Given the description of an element on the screen output the (x, y) to click on. 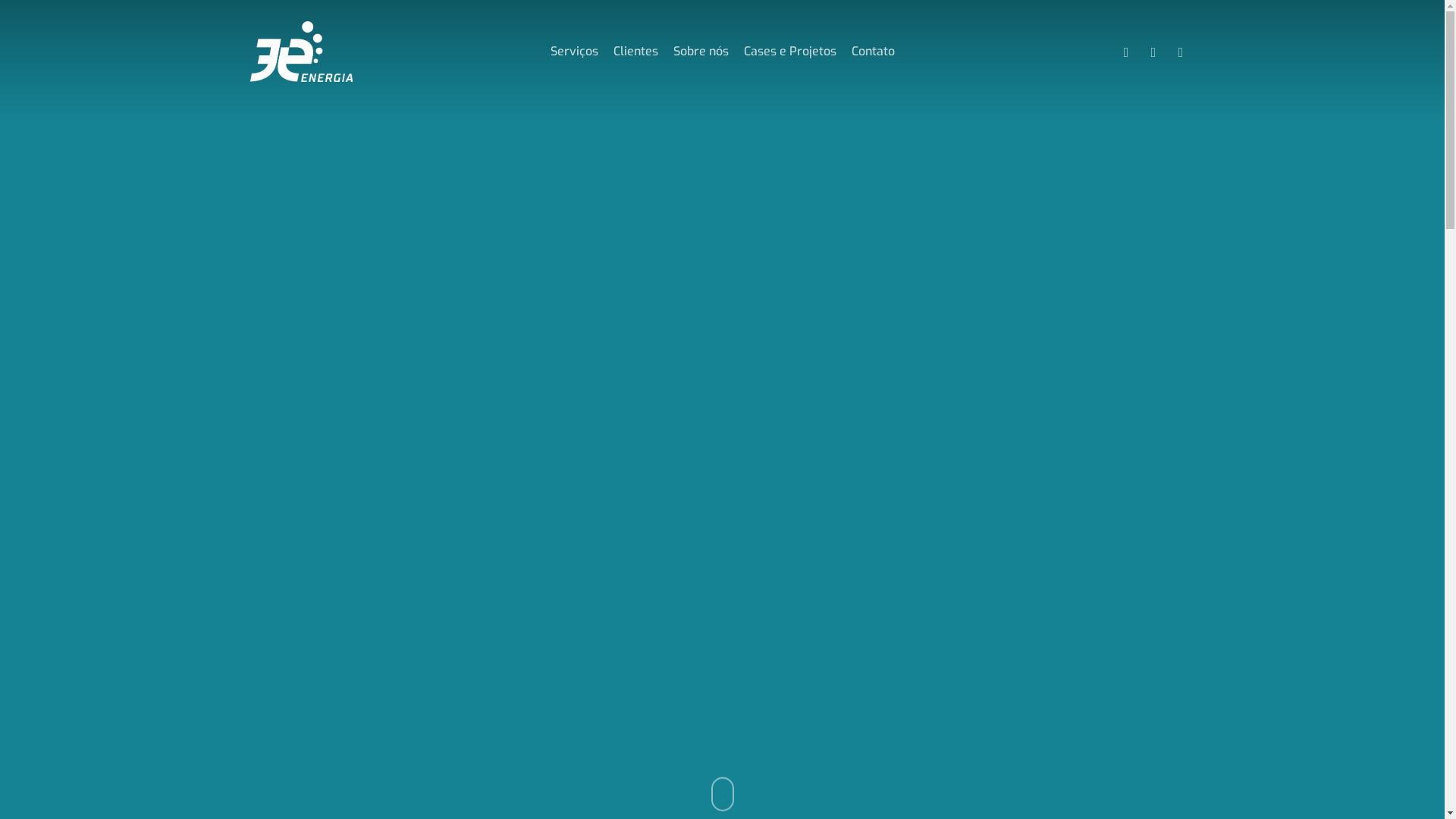
Cases e Projetos Element type: text (789, 51)
Clientes Element type: text (634, 51)
Contato Element type: text (872, 51)
